Given the description of an element on the screen output the (x, y) to click on. 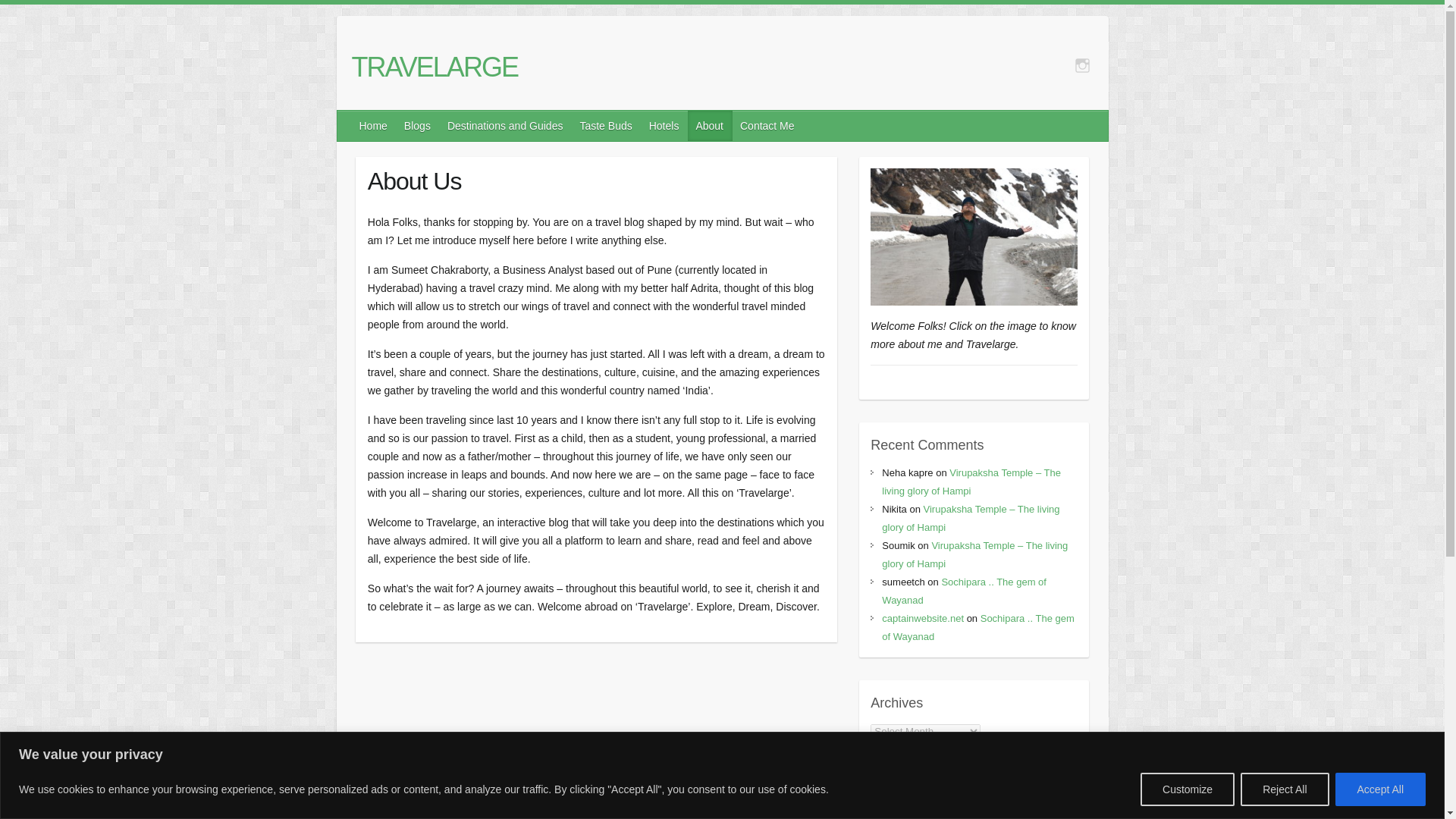
Sochipara .. The gem of Wayanad (964, 591)
Contact Me (767, 125)
Taste Buds (606, 125)
Destinations and Guides (505, 125)
Blogs (417, 125)
TRAVELARGE (435, 67)
Customize (1187, 788)
Hotels (665, 125)
Reject All (1283, 788)
About (709, 125)
